Given the description of an element on the screen output the (x, y) to click on. 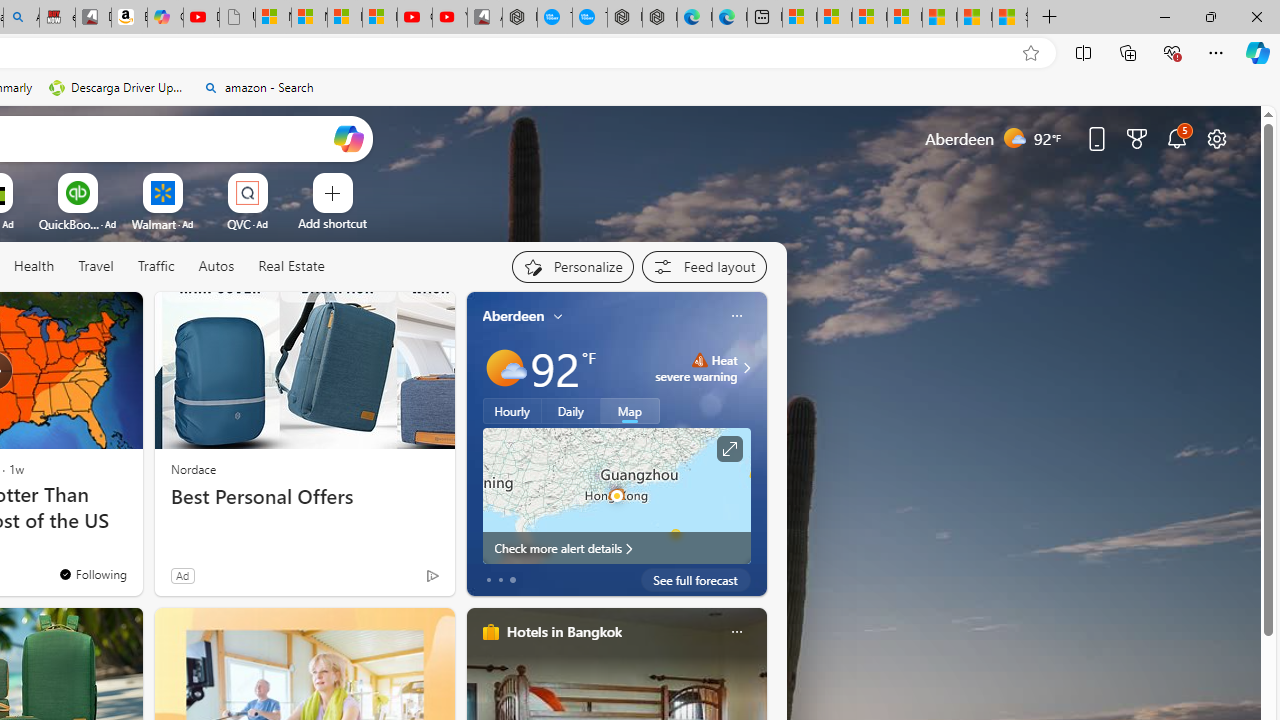
Autos (215, 265)
Hourly (511, 411)
Travel (95, 265)
Ad Choice (432, 575)
Map (630, 411)
More options (736, 631)
You're following The Weather Channel (92, 573)
Gloom - YouTube (415, 17)
All Cubot phones (484, 17)
Notifications (1176, 138)
Traffic (155, 267)
Click to see more information (728, 449)
New Tab (1049, 17)
